Given the description of an element on the screen output the (x, y) to click on. 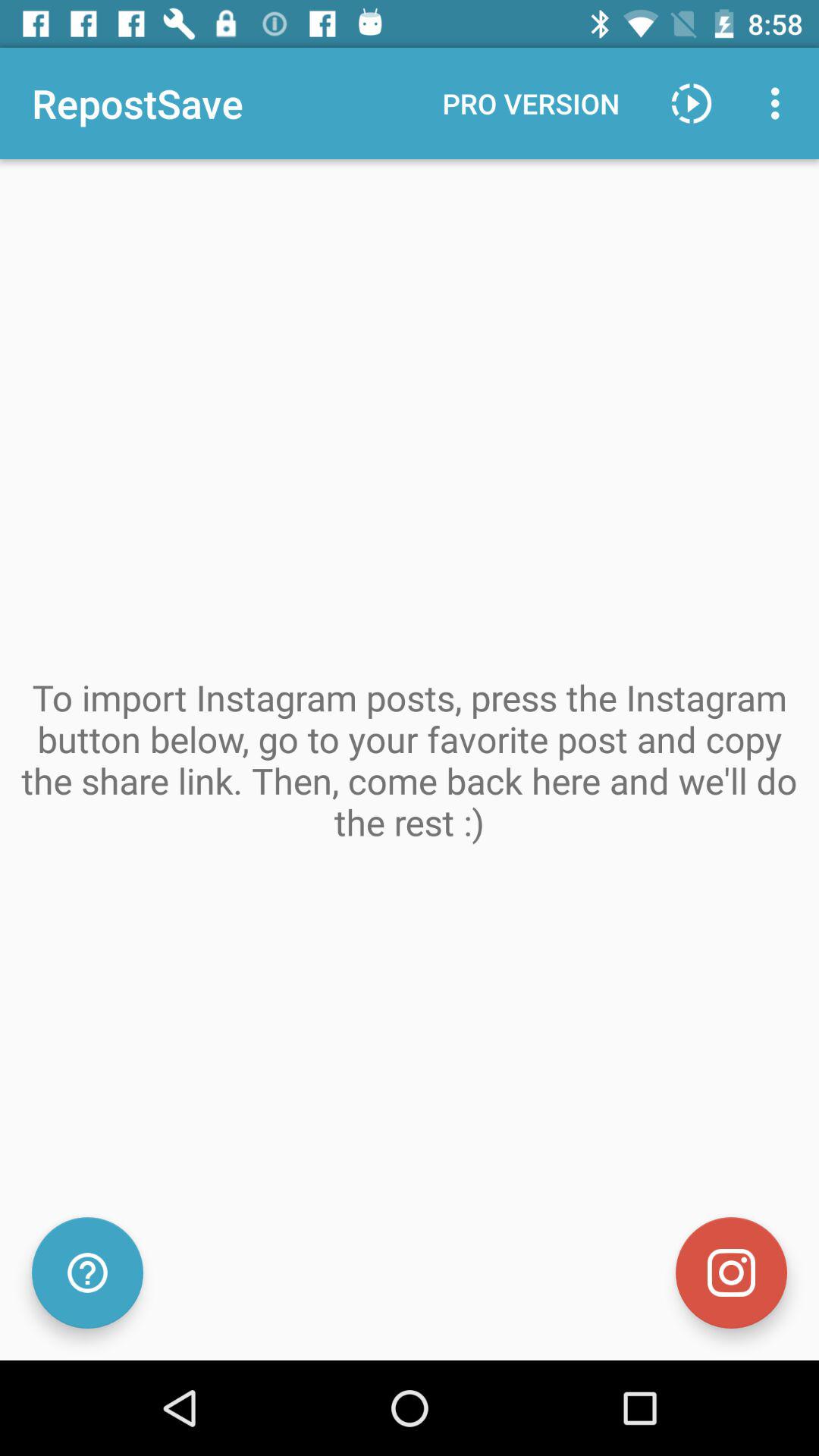
open the app to the right of repostsave app (530, 103)
